Given the description of an element on the screen output the (x, y) to click on. 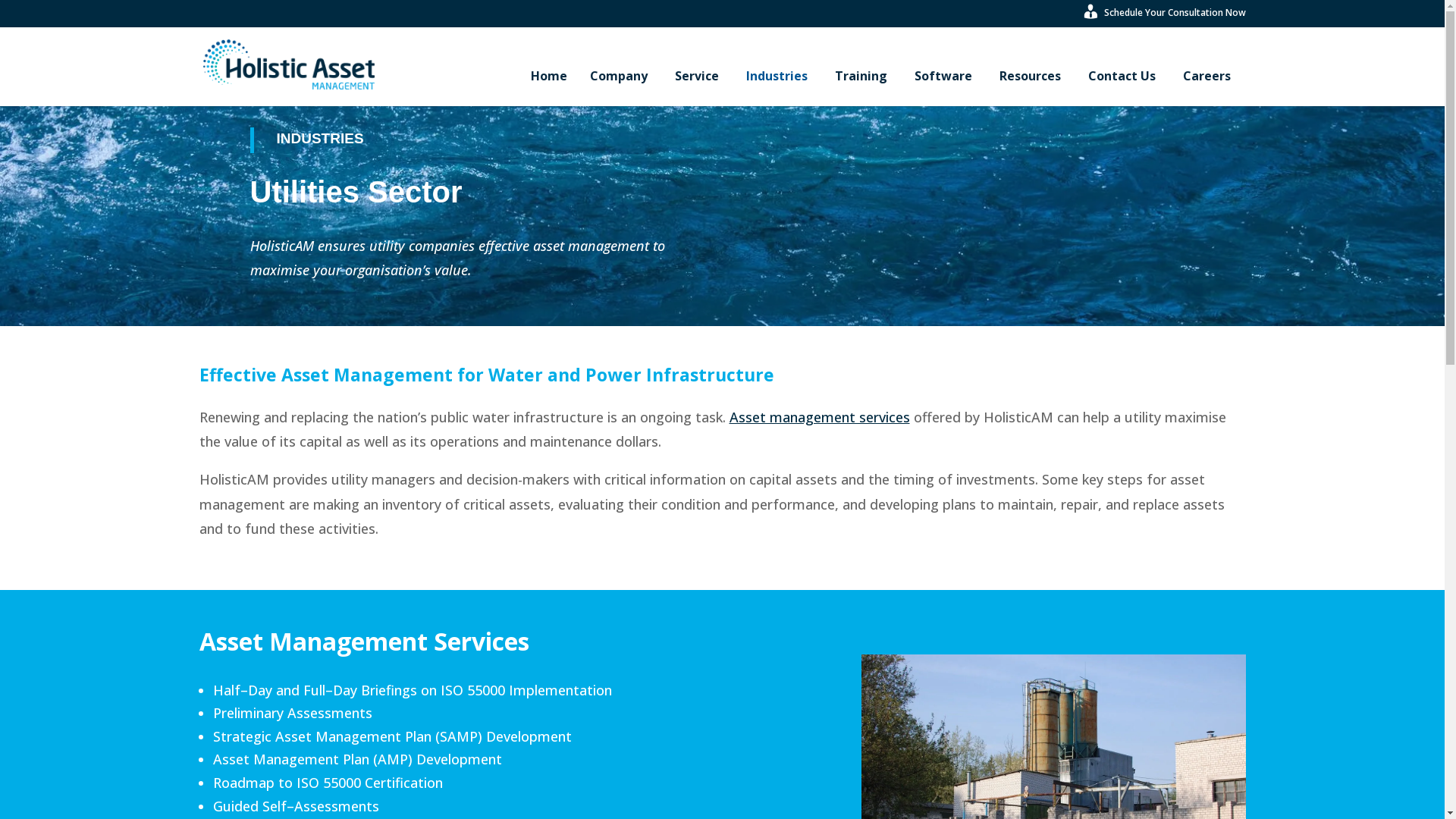
Home Element type: text (548, 75)
Software Element type: text (945, 75)
Resources Element type: text (1032, 75)
Careers Element type: text (1206, 75)
Industries Element type: text (778, 75)
Training Element type: text (862, 75)
Contact Us Element type: text (1123, 75)
Asset management services Element type: text (819, 416)
Service Element type: text (699, 75)
Company Element type: text (620, 75)
Schedule Your Consultation Now Element type: text (1163, 16)
